Given the description of an element on the screen output the (x, y) to click on. 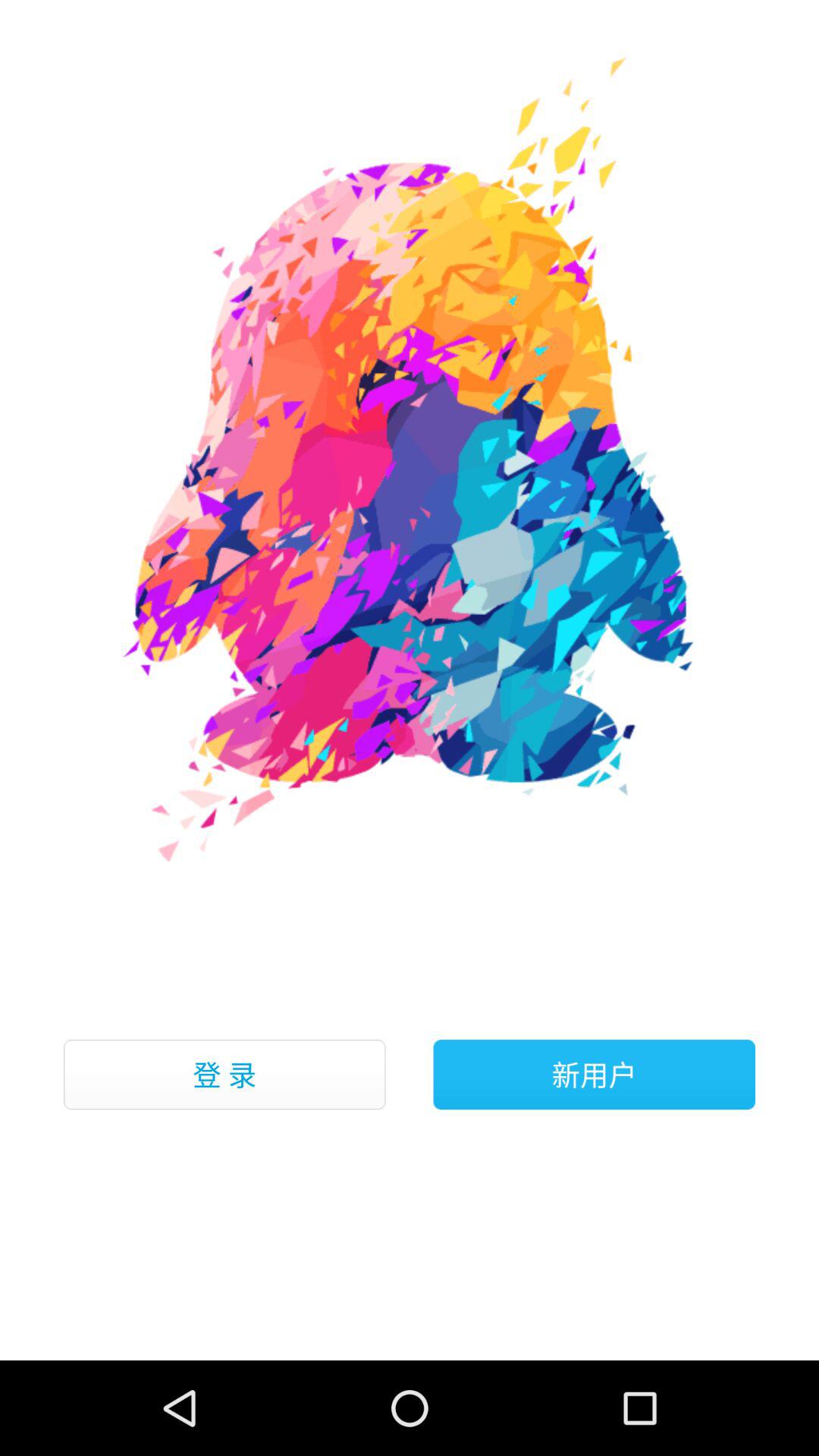
tap button at the bottom left corner (224, 1074)
